Given the description of an element on the screen output the (x, y) to click on. 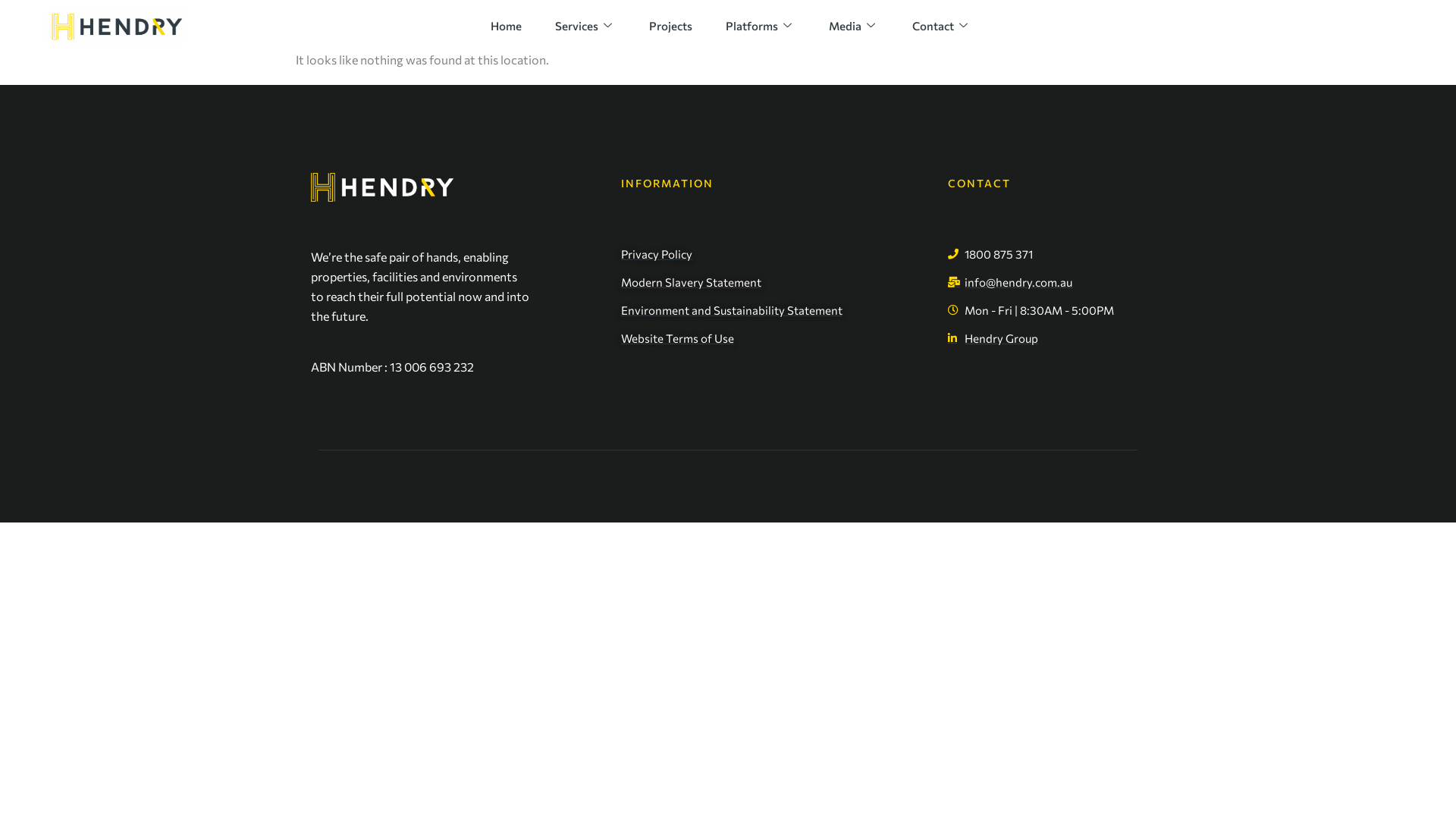
Privacy Policy Element type: text (776, 253)
Projects Element type: text (670, 25)
Hendry Group Element type: text (1046, 338)
Home Element type: text (505, 25)
Environment and Sustainability Statement Element type: text (776, 310)
Contact Element type: text (941, 25)
Services Element type: text (585, 25)
Website Terms of Use Element type: text (776, 338)
Media Element type: text (853, 25)
info@hendry.com.au Element type: text (1046, 281)
Modern Slavery Statement Element type: text (776, 281)
Platforms Element type: text (760, 25)
